Given the description of an element on the screen output the (x, y) to click on. 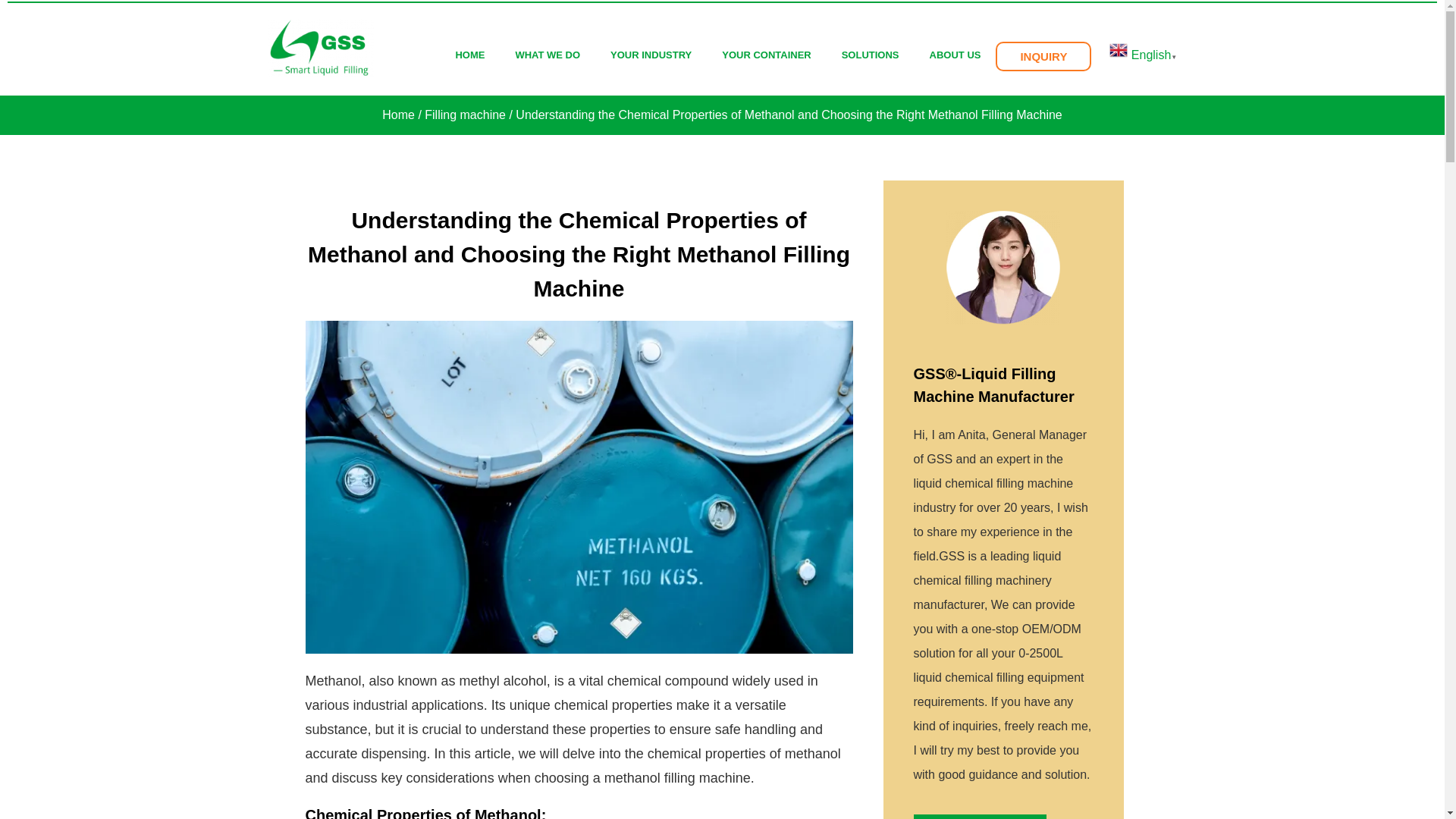
YOUR CONTAINER (765, 54)
HOME (469, 54)
YOUR INDUSTRY (650, 54)
WHAT WE DO (547, 54)
SOLUTIONS (870, 54)
ABOUT US (954, 54)
GSS liquid filling machine Logo (319, 47)
